Given the description of an element on the screen output the (x, y) to click on. 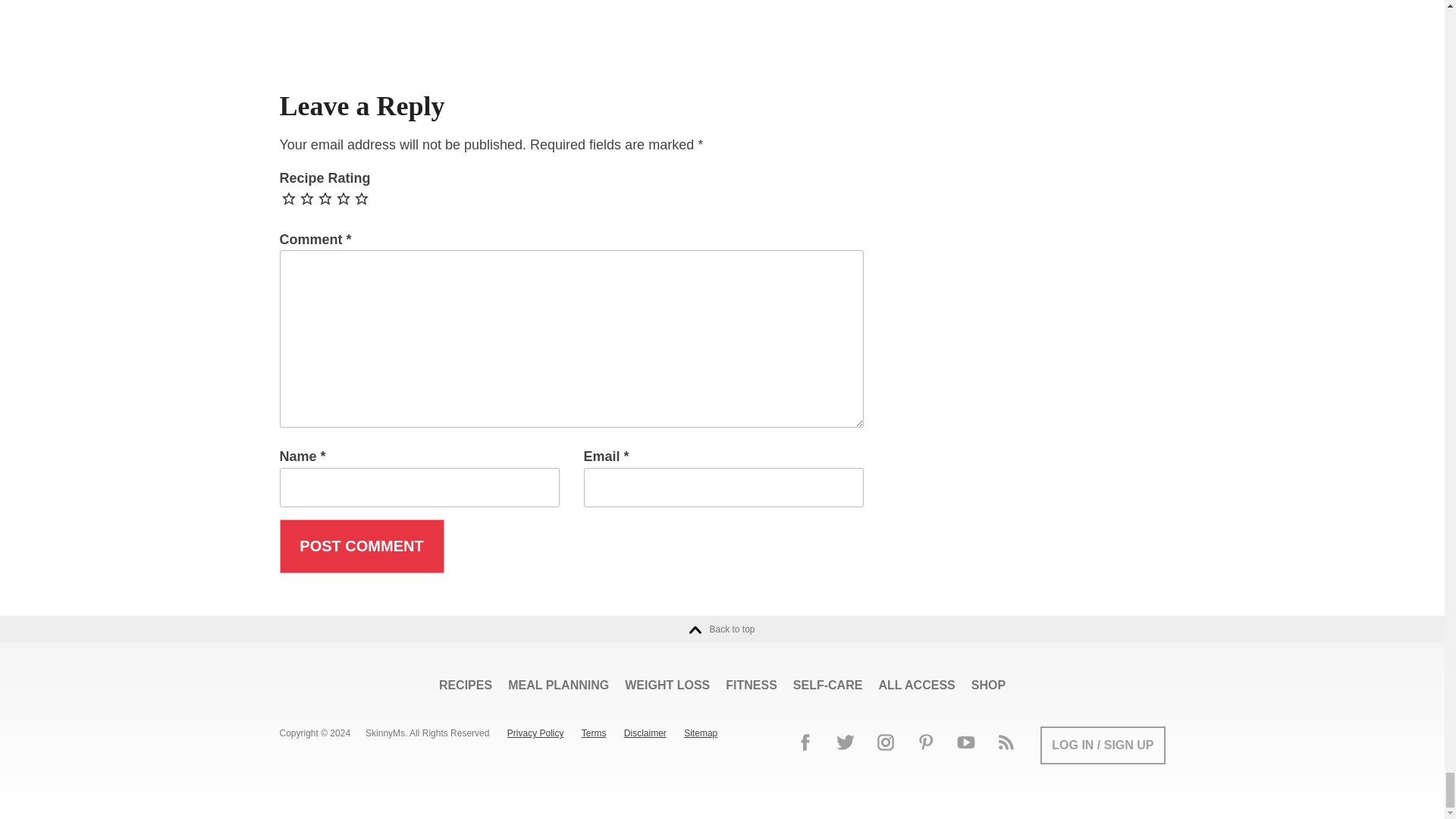
Post Comment (361, 546)
